Given the description of an element on the screen output the (x, y) to click on. 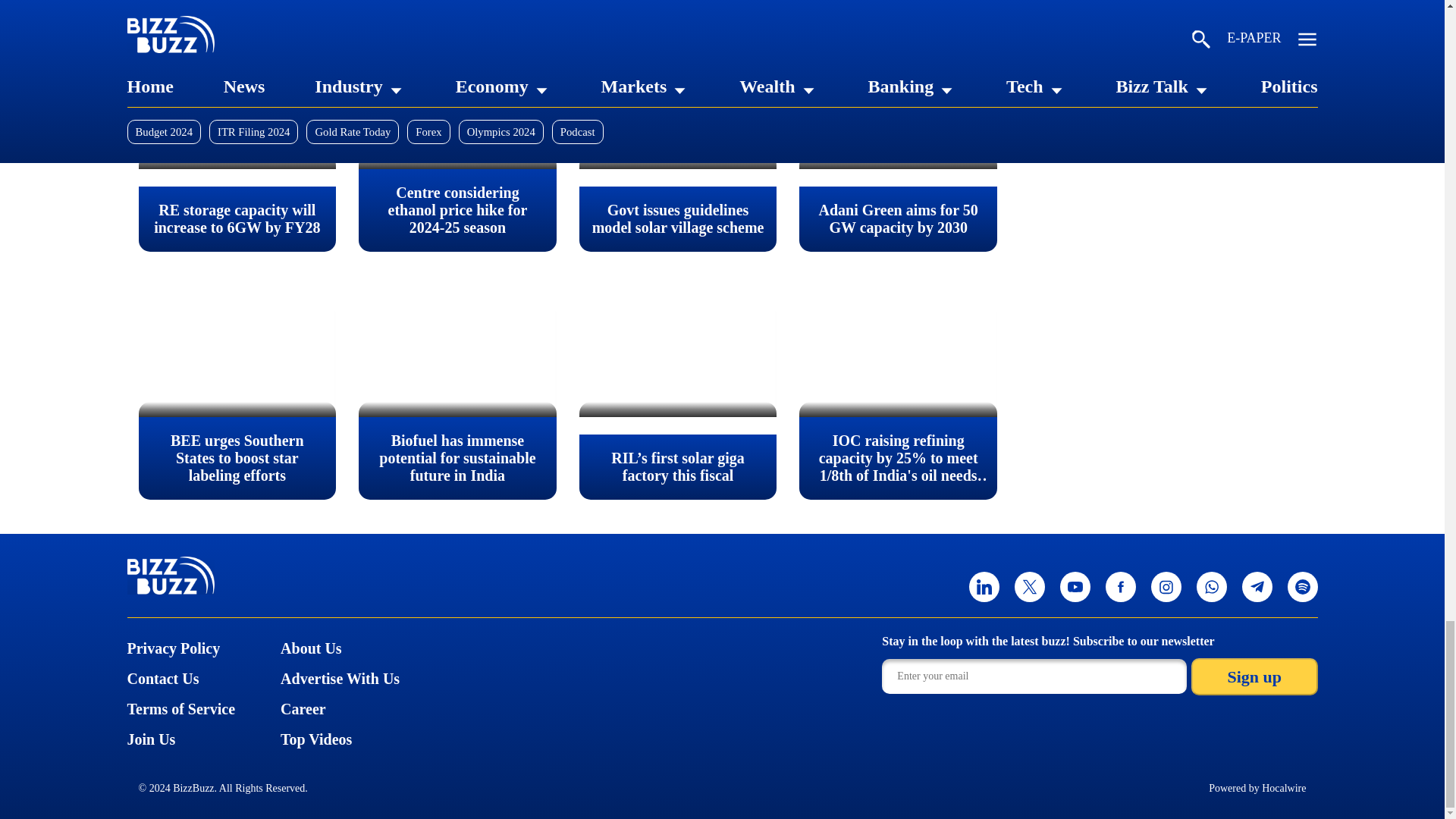
Govt issues guidelines model solar village scheme (678, 113)
Centre considering ethanol price hike for 2024-25 season (457, 113)
Adani Green aims for 50 GW capacity by 2030 (898, 113)
RE storage capacity will increase to 6GW by FY28 (237, 113)
